Given the description of an element on the screen output the (x, y) to click on. 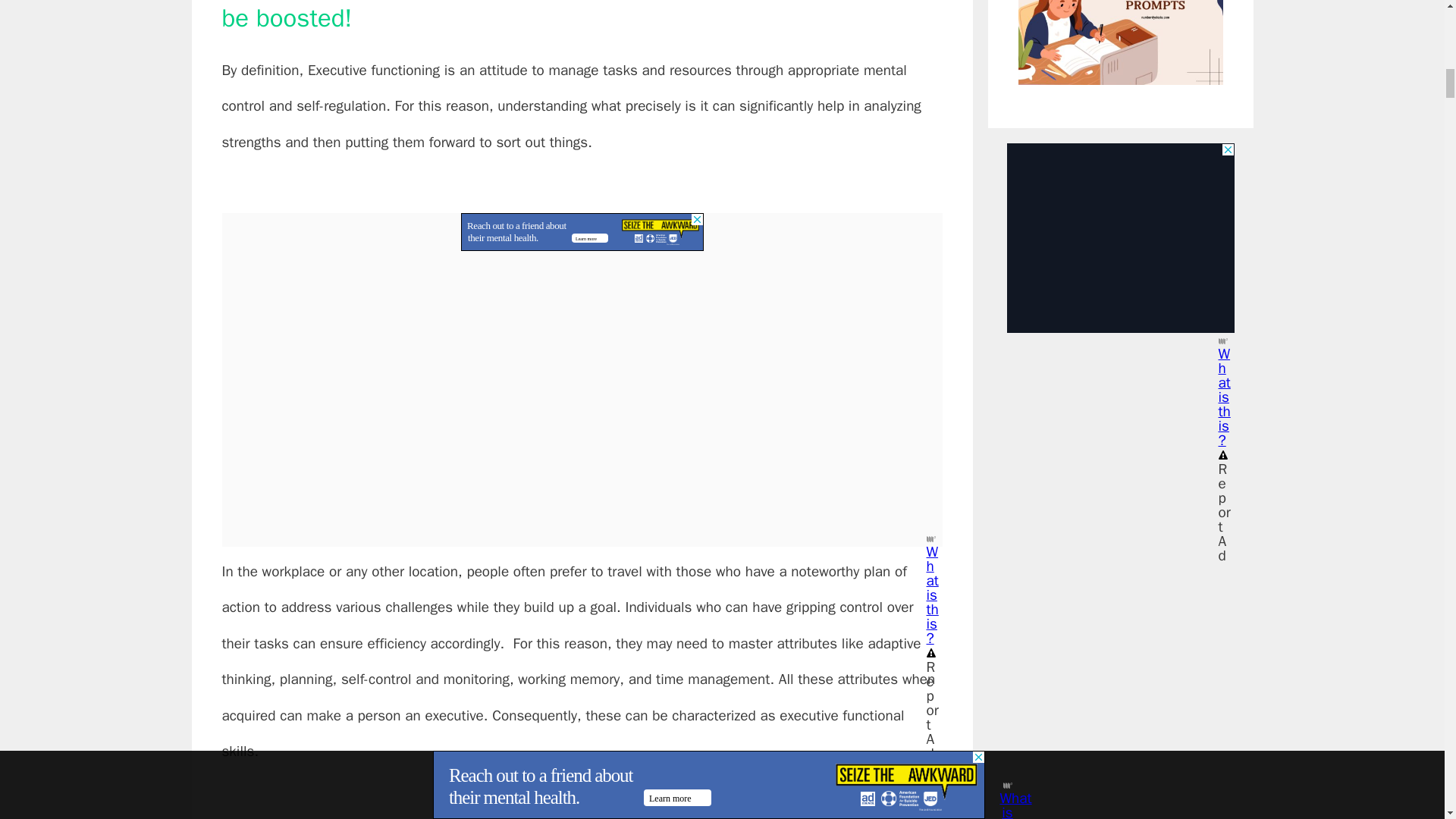
3rd party ad content (1120, 237)
3rd party ad content (582, 231)
